Given the description of an element on the screen output the (x, y) to click on. 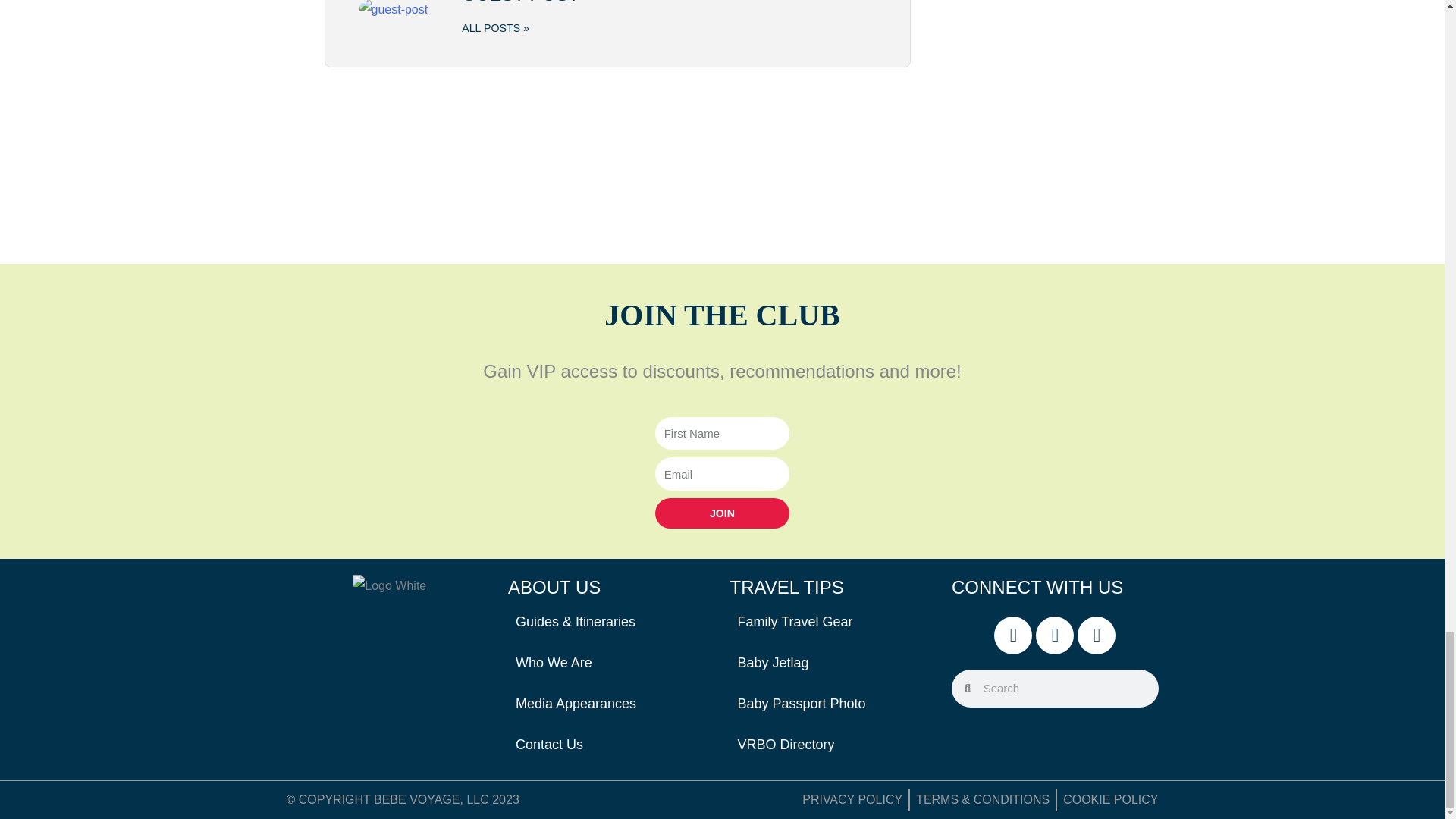
Logo White (389, 585)
